Given the description of an element on the screen output the (x, y) to click on. 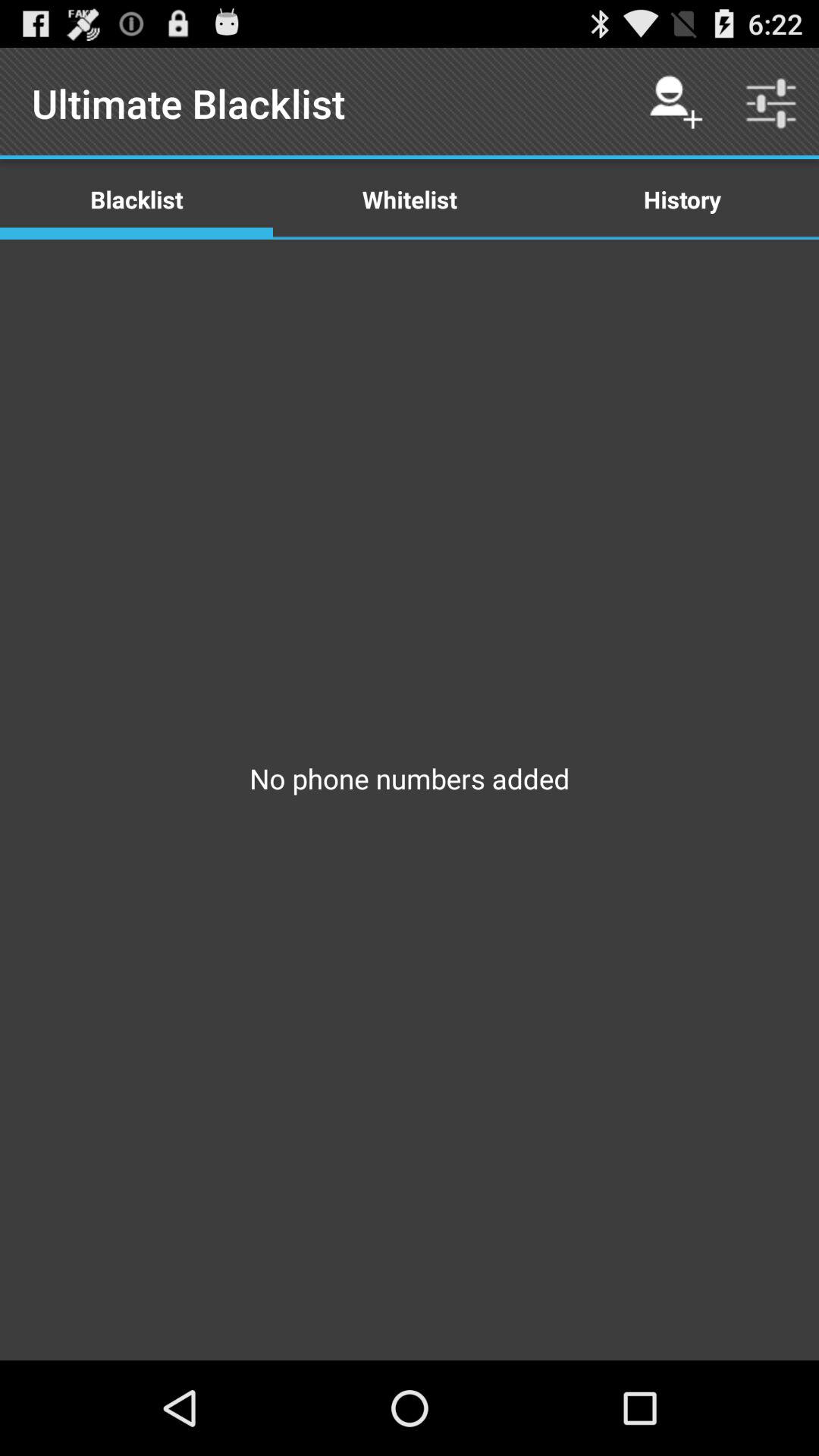
turn on item next to the whitelist (682, 199)
